Given the description of an element on the screen output the (x, y) to click on. 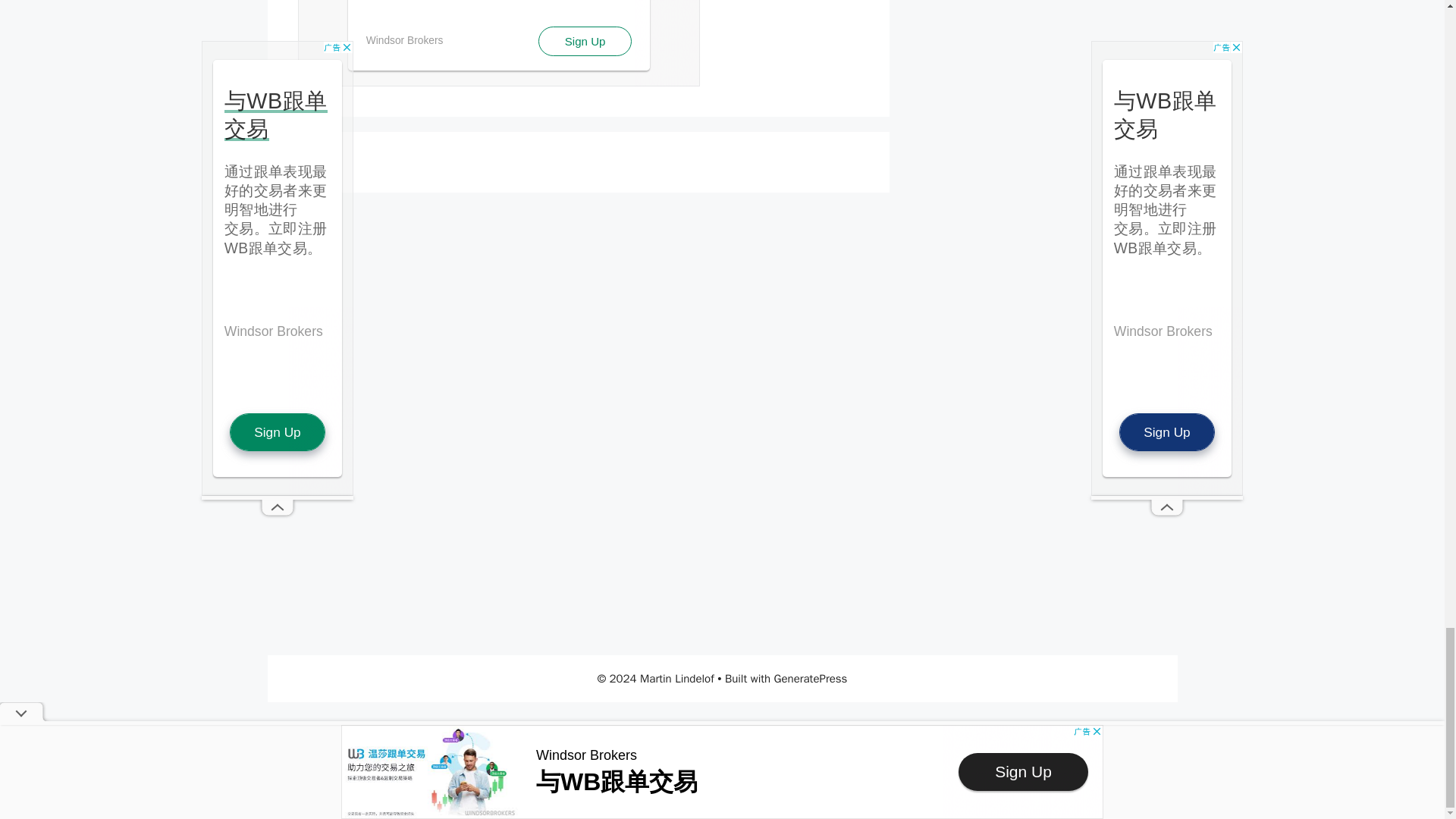
Advertisement (497, 43)
GeneratePress (810, 678)
